Given the description of an element on the screen output the (x, y) to click on. 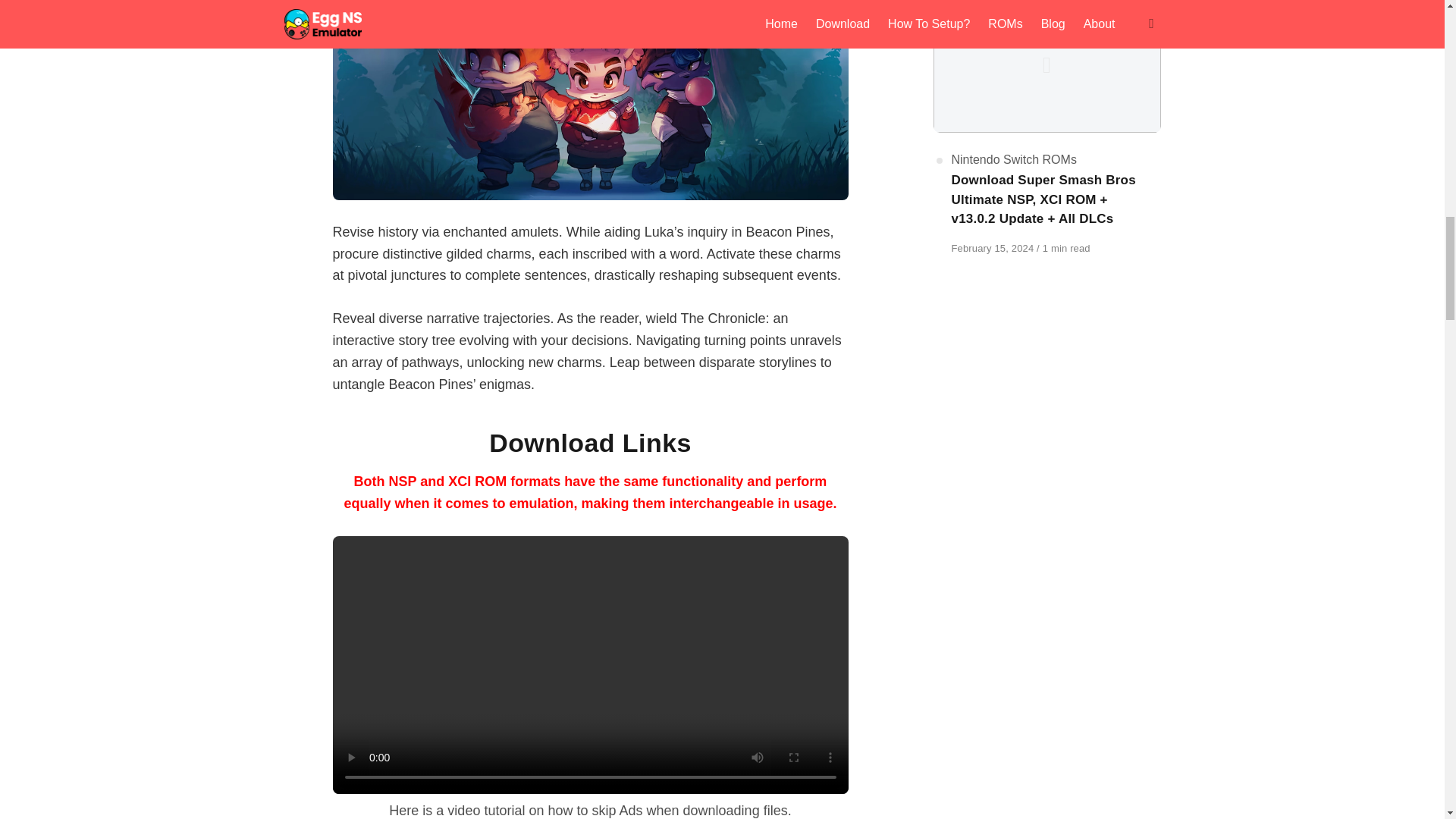
Nintendo Switch ROMs (1012, 159)
February 15, 2024 (993, 247)
